Given the description of an element on the screen output the (x, y) to click on. 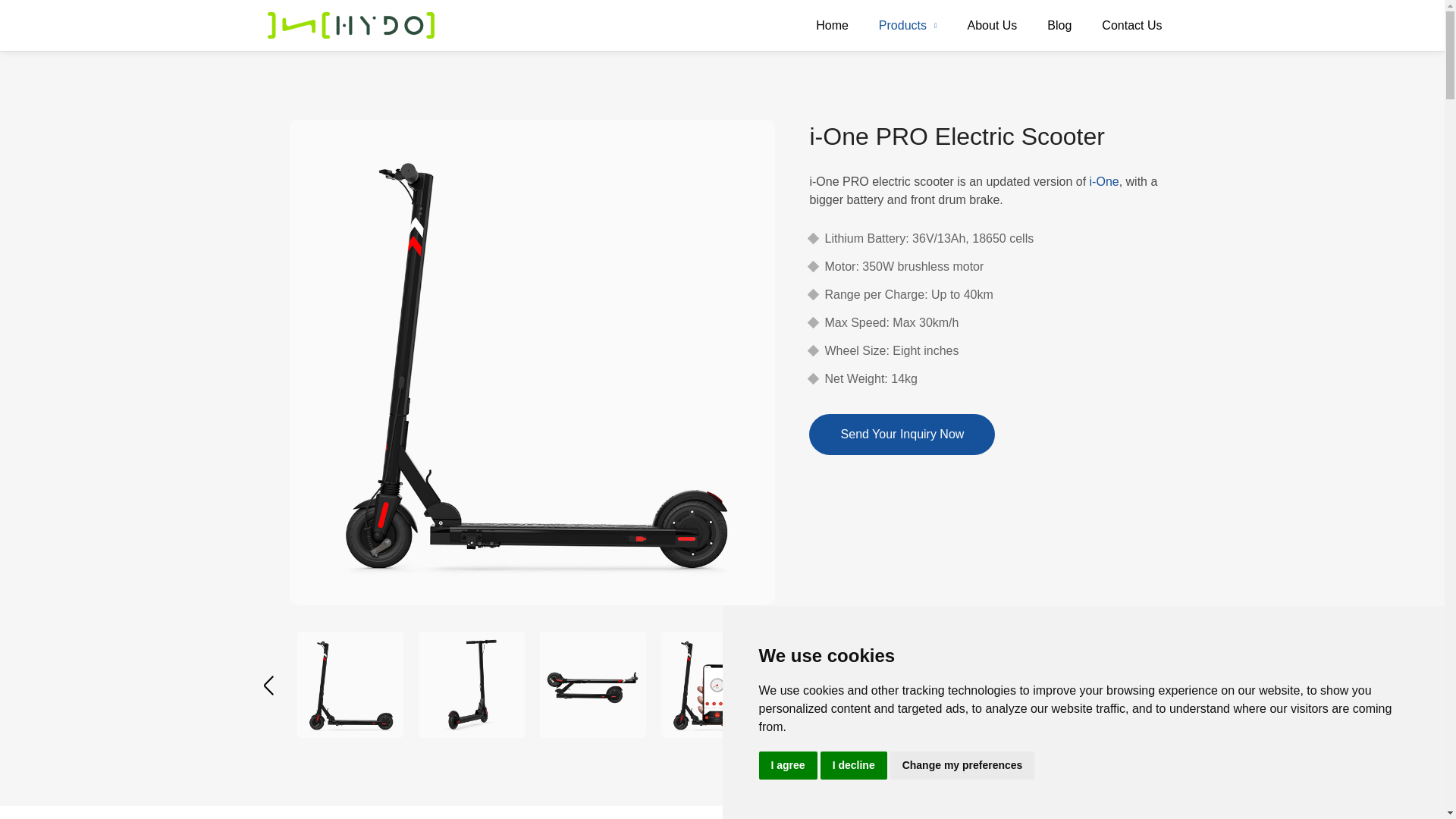
I decline (853, 765)
Products (907, 25)
I agree (787, 765)
Home (831, 25)
Change my preferences (962, 765)
